Given the description of an element on the screen output the (x, y) to click on. 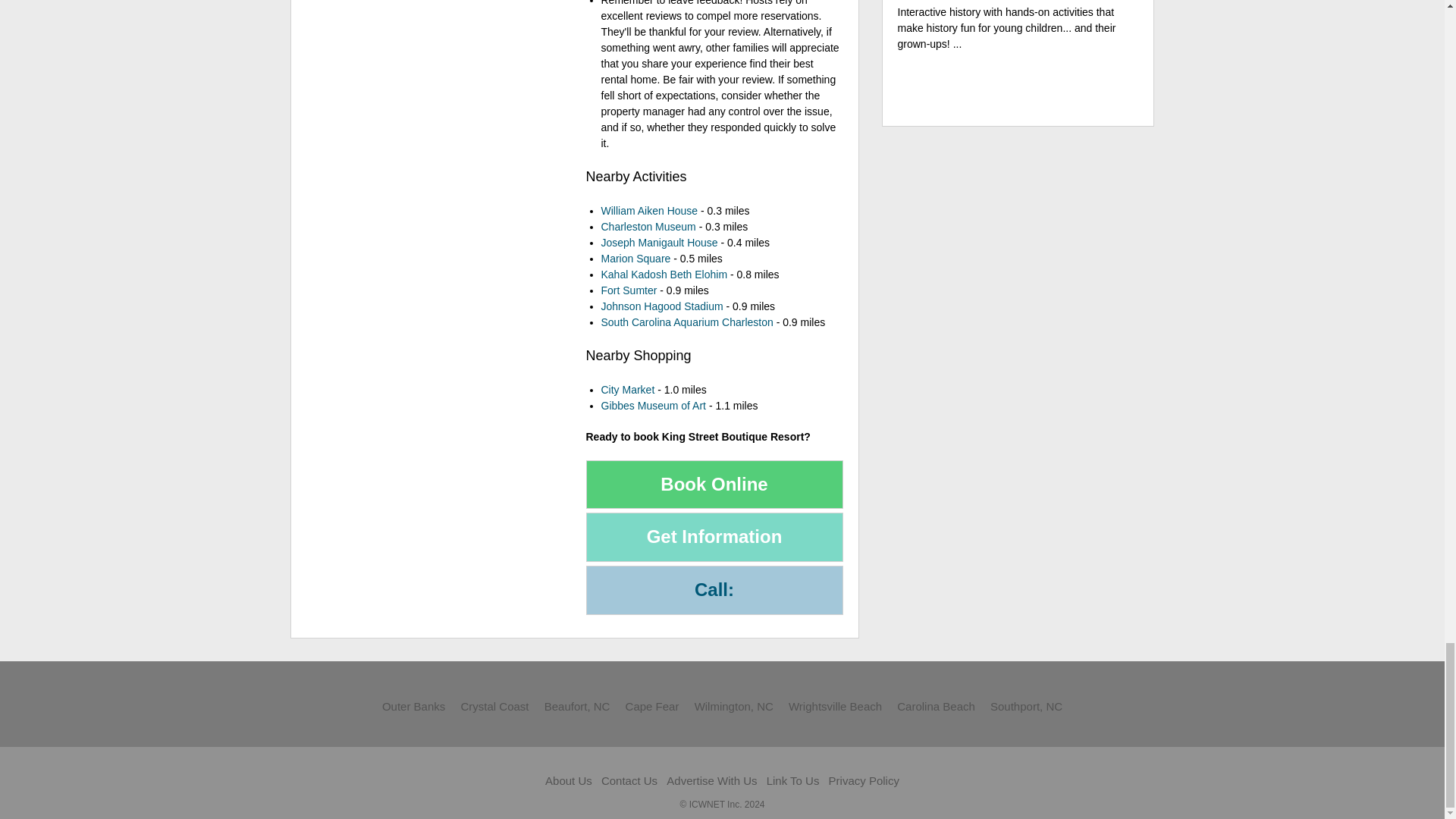
South Carolina Aquarium Charleston (686, 322)
Joseph Manigault House (658, 242)
Book Online (714, 484)
Call: (714, 590)
Fort Sumter (627, 290)
Gibbes Museum of Art (652, 405)
Kahal Kadosh Beth Elohim (662, 274)
Johnson Hagood Stadium (660, 306)
Charleston Museum (647, 226)
William Aiken House (648, 210)
City Market (626, 389)
Marion Square (634, 258)
Get Information (714, 536)
